Given the description of an element on the screen output the (x, y) to click on. 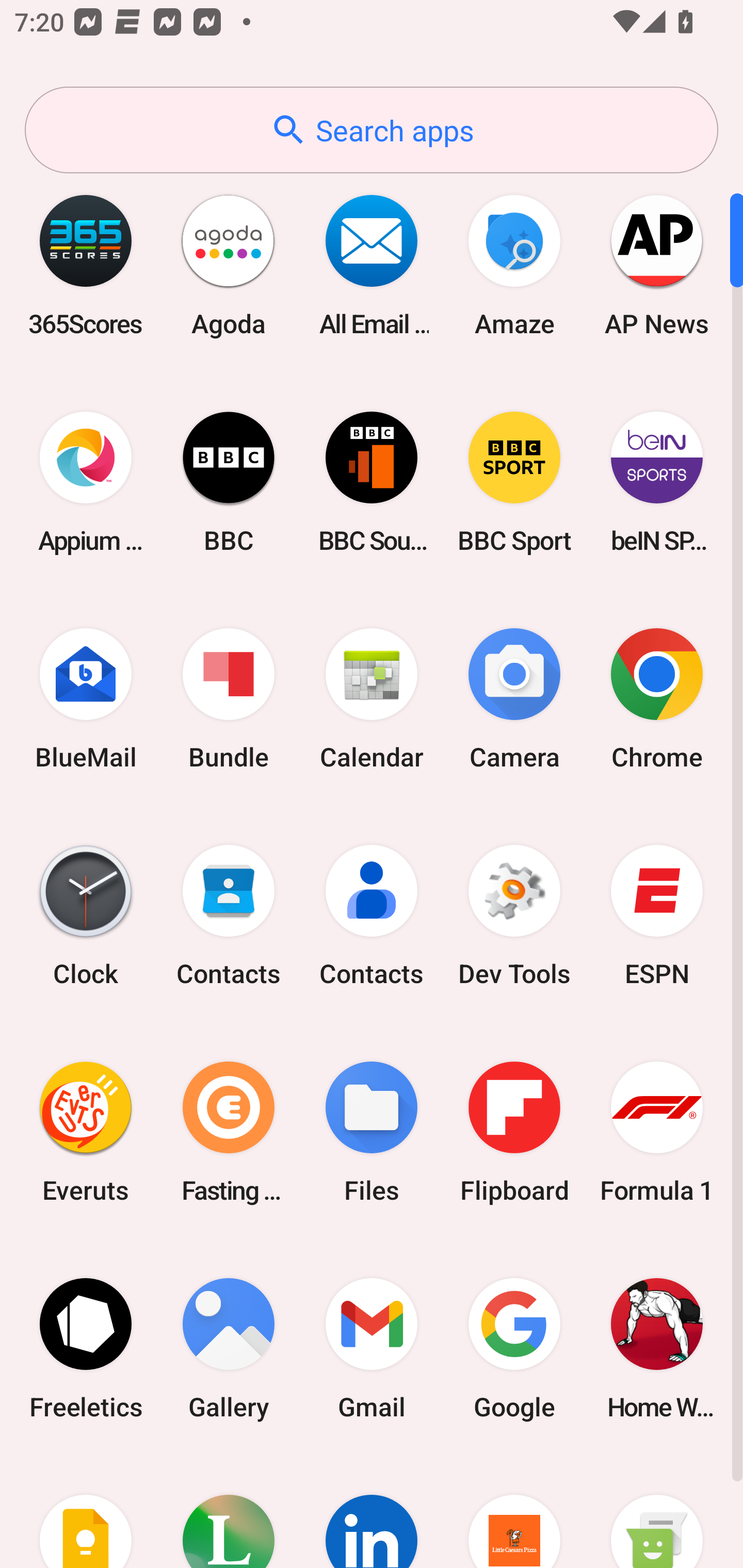
  Search apps (371, 130)
365Scores (85, 264)
Agoda (228, 264)
All Email Connect (371, 264)
Amaze (514, 264)
AP News (656, 264)
Appium Settings (85, 482)
BBC (228, 482)
BBC Sounds (371, 482)
BBC Sport (514, 482)
beIN SPORTS (656, 482)
BlueMail (85, 699)
Bundle (228, 699)
Calendar (371, 699)
Camera (514, 699)
Chrome (656, 699)
Clock (85, 915)
Contacts (228, 915)
Contacts (371, 915)
Dev Tools (514, 915)
ESPN (656, 915)
Everuts (85, 1131)
Fasting Coach (228, 1131)
Files (371, 1131)
Flipboard (514, 1131)
Formula 1 (656, 1131)
Freeletics (85, 1348)
Gallery (228, 1348)
Gmail (371, 1348)
Google (514, 1348)
Home Workout (656, 1348)
Keep Notes (85, 1512)
Lifesum (228, 1512)
LinkedIn (371, 1512)
Little Caesars Pizza (514, 1512)
Messaging (656, 1512)
